Given the description of an element on the screen output the (x, y) to click on. 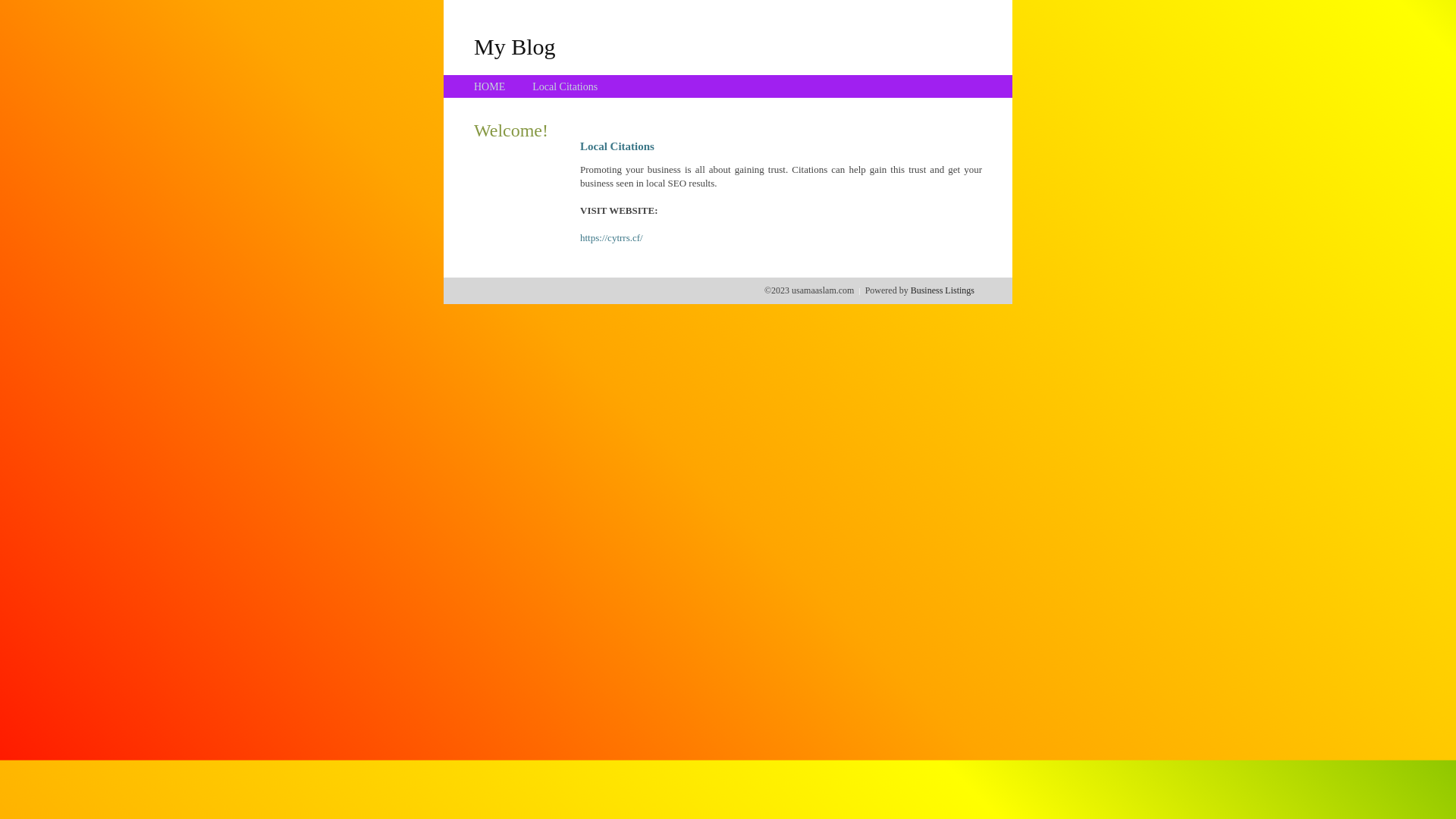
https://cytrrs.cf/ Element type: text (611, 237)
Local Citations Element type: text (564, 86)
Business Listings Element type: text (942, 290)
HOME Element type: text (489, 86)
My Blog Element type: text (514, 46)
